Given the description of an element on the screen output the (x, y) to click on. 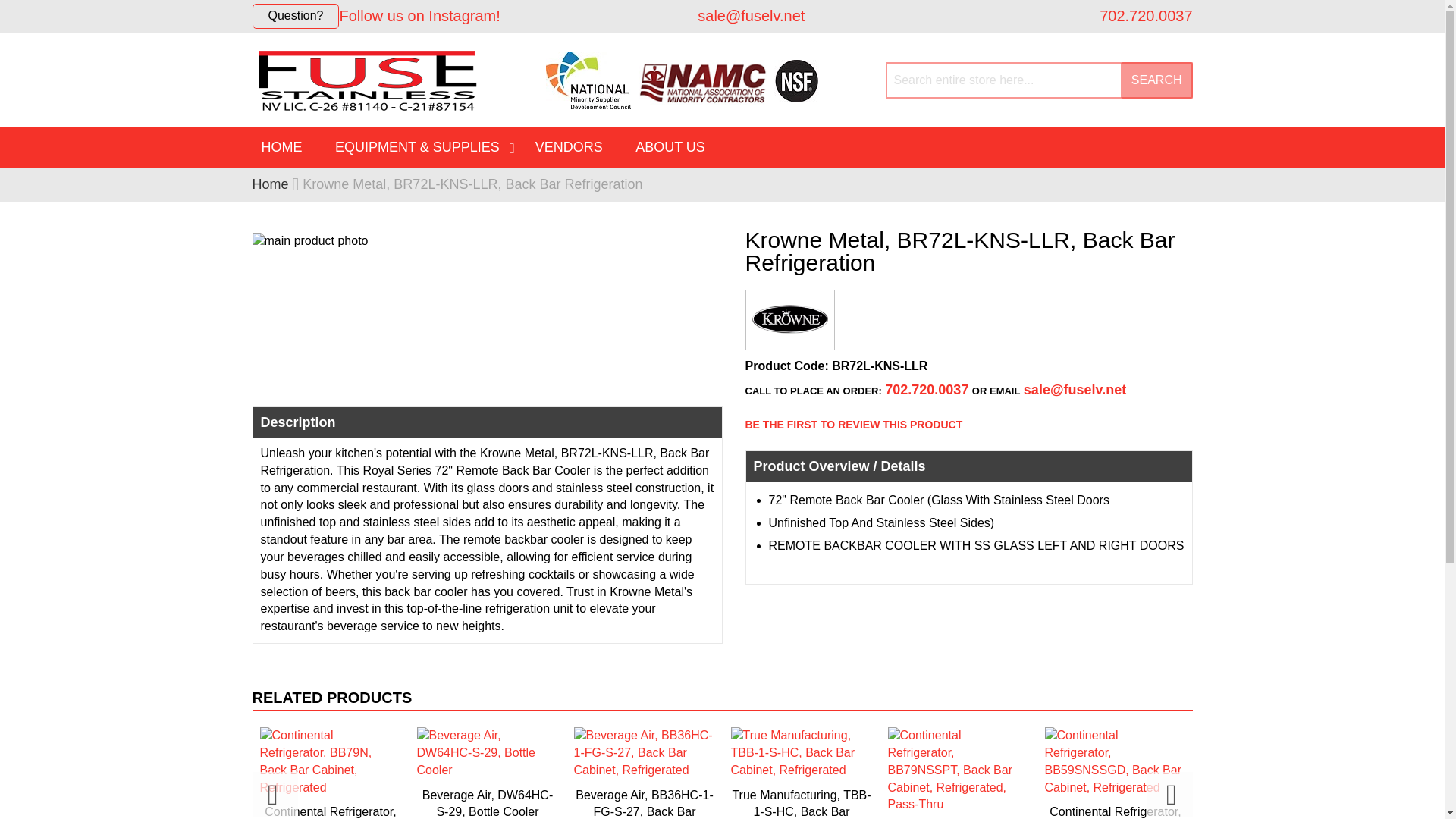
702.720.0037 (1144, 15)
Fuse Stainless LLC. (365, 79)
Go to Home Page (269, 183)
SEARCH (1156, 80)
Beverage Air, DW64HC-S-29, Bottle Cooler (487, 769)
HOME (281, 147)
